Given the description of an element on the screen output the (x, y) to click on. 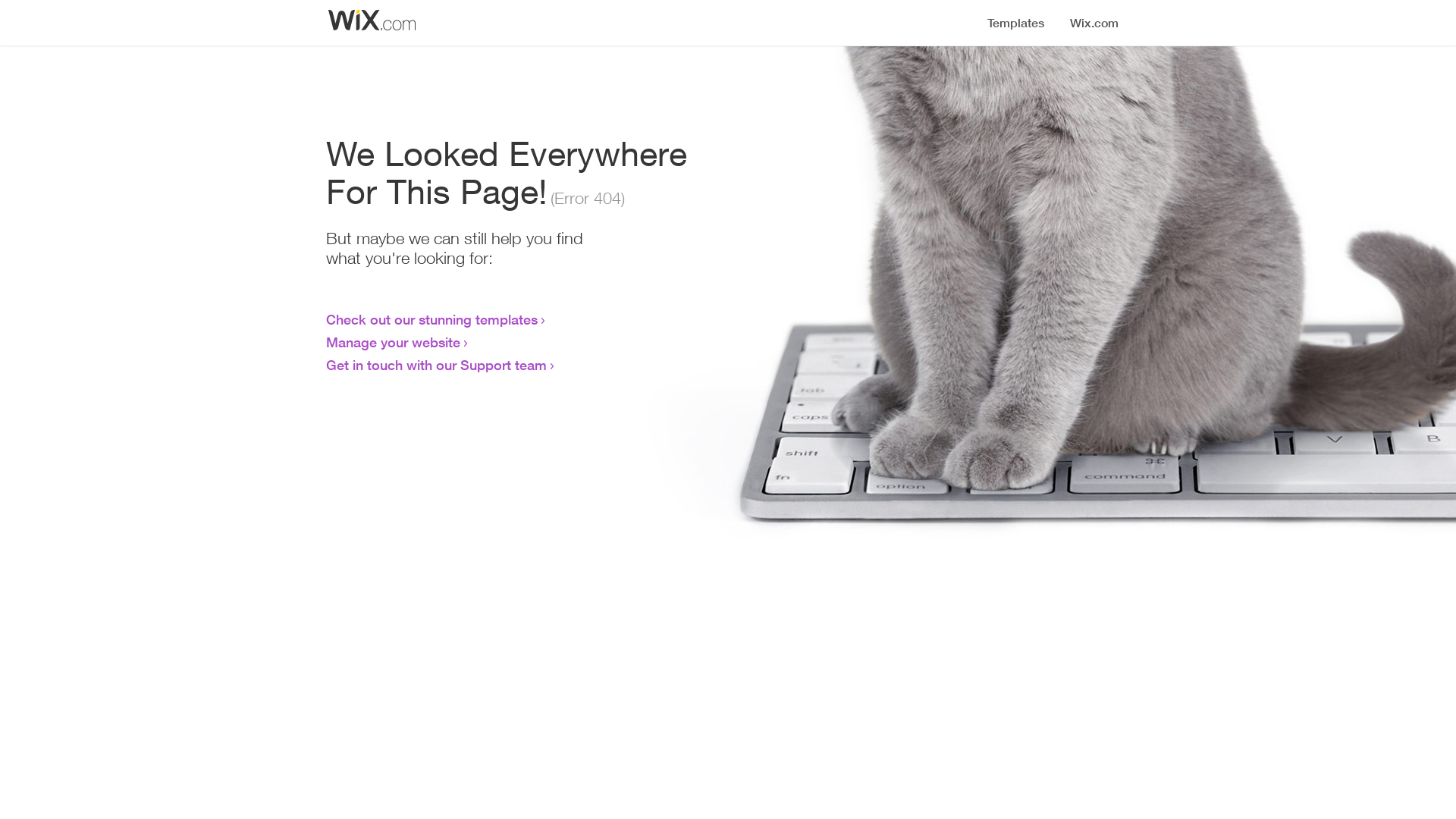
Manage your website Element type: text (393, 341)
Get in touch with our Support team Element type: text (436, 364)
Check out our stunning templates Element type: text (431, 318)
